Given the description of an element on the screen output the (x, y) to click on. 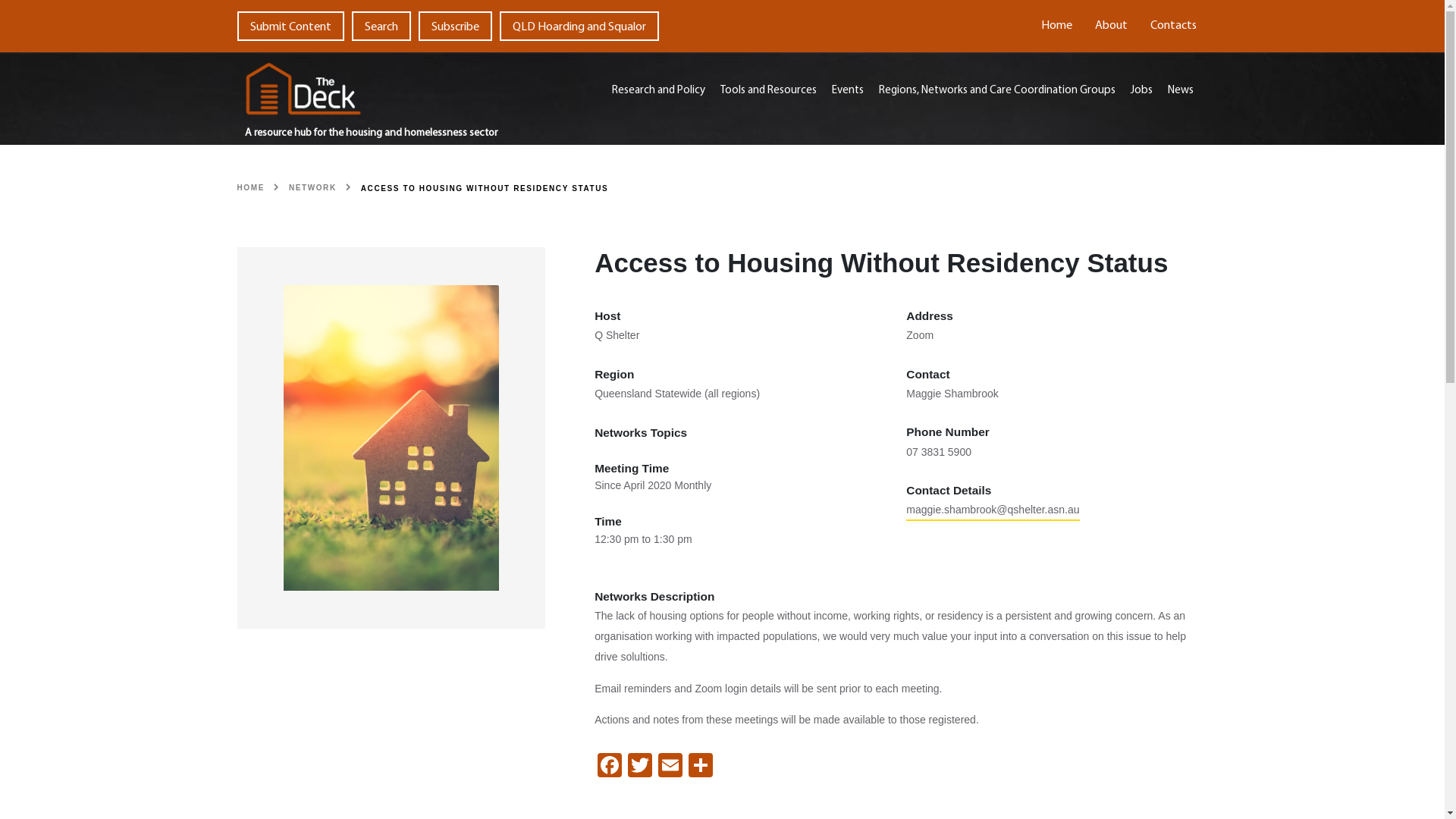
Share Element type: text (700, 767)
maggie.shambrook@qshelter.asn.au Element type: text (992, 511)
Email Element type: text (670, 767)
Tools and Resources Element type: text (768, 91)
Events Element type: text (847, 91)
Subscribe Element type: text (455, 25)
Research and Policy Element type: text (658, 91)
News Element type: text (1180, 91)
Facebook Element type: text (609, 767)
Search Element type: text (381, 25)
Contacts Element type: text (1173, 25)
Regions, Networks and Care Coordination Groups Element type: text (997, 91)
About Element type: text (1110, 25)
Submit Content Element type: text (289, 25)
Home Element type: text (1056, 25)
QLD Hoarding and Squalor Element type: text (578, 25)
Jobs Element type: text (1141, 91)
Twitter Element type: text (639, 767)
